Given the description of an element on the screen output the (x, y) to click on. 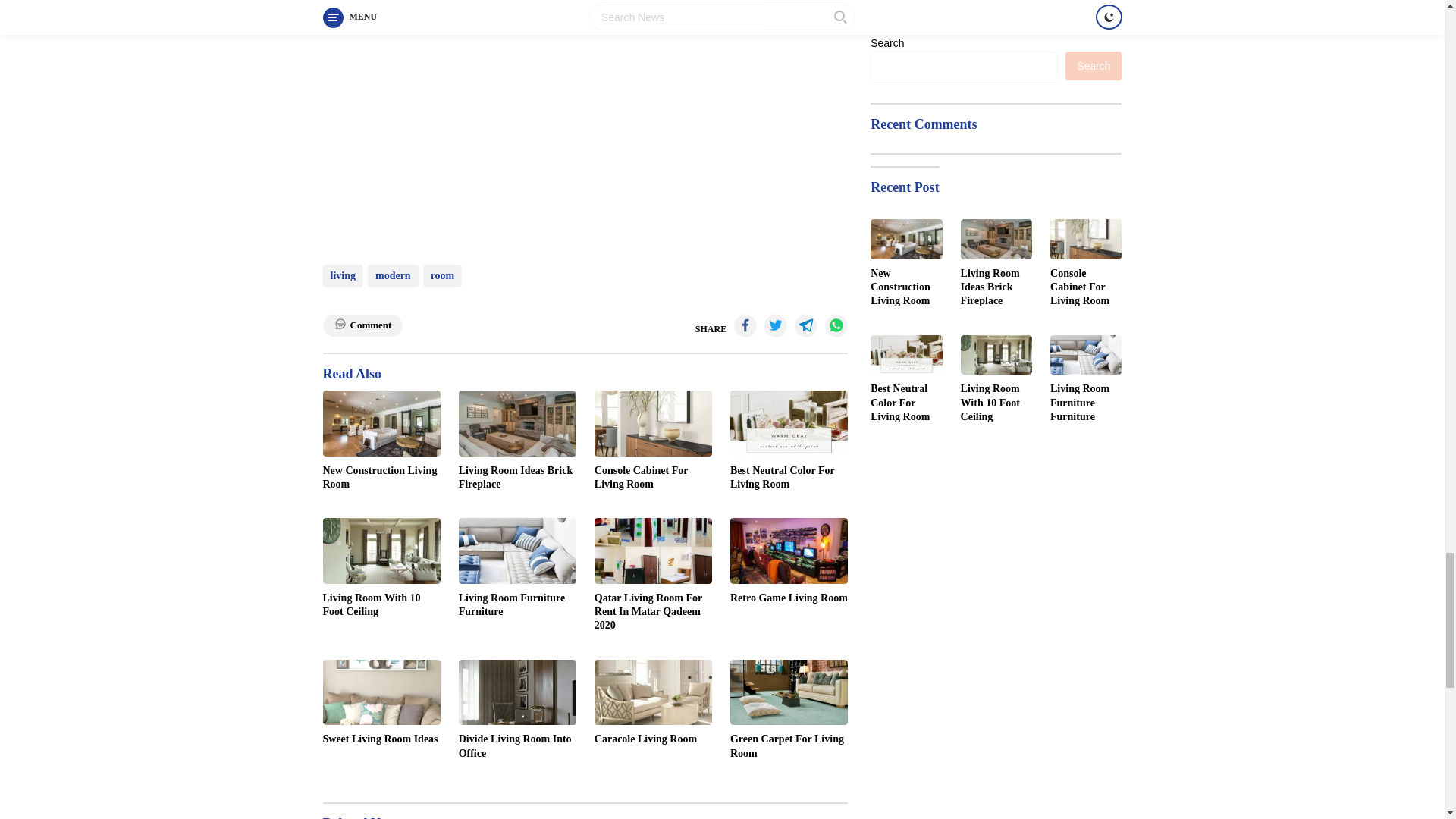
living (342, 274)
room (443, 274)
modern (393, 274)
Comment (363, 325)
